Given the description of an element on the screen output the (x, y) to click on. 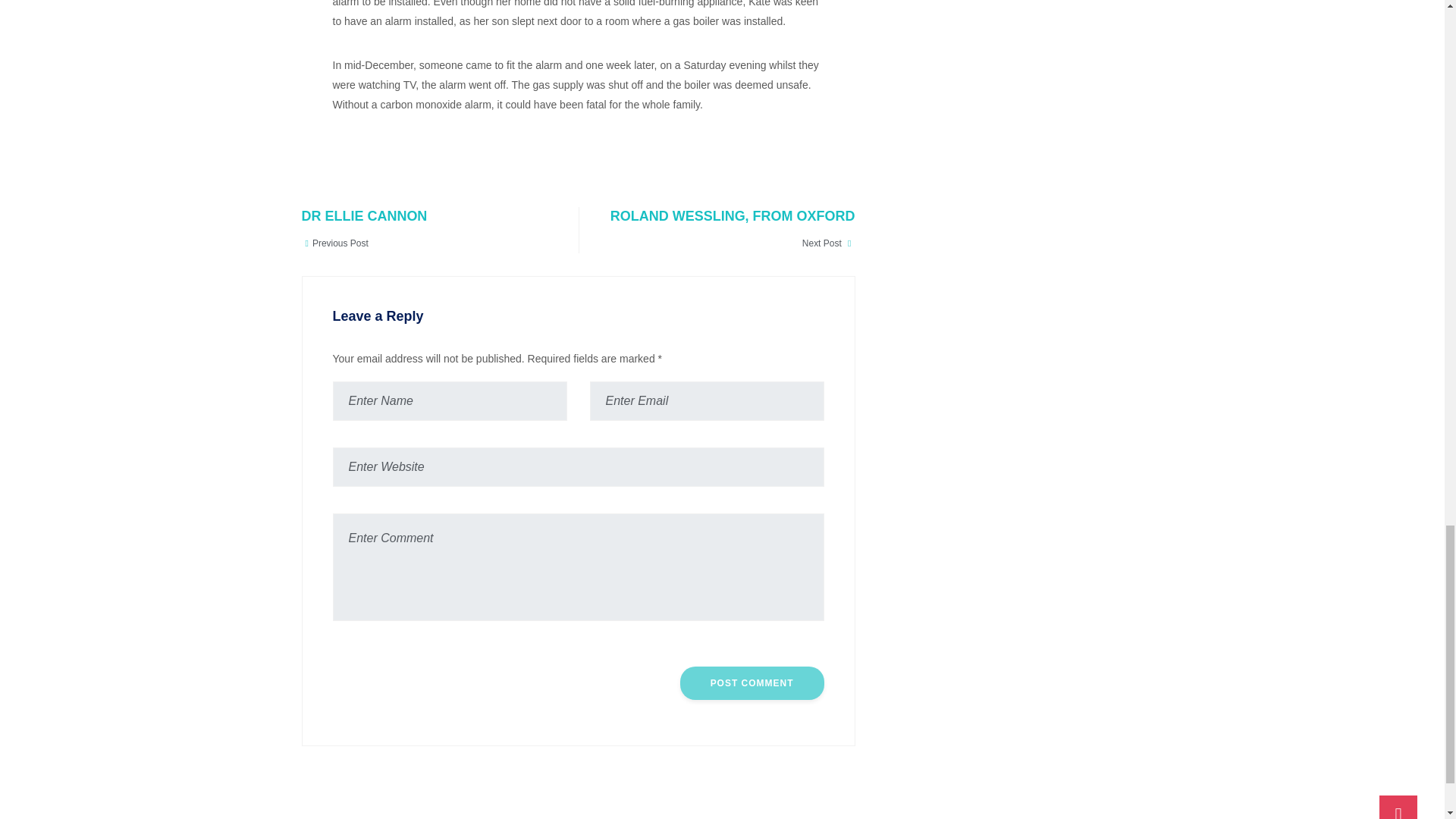
Post Comment (424, 230)
Post Comment (751, 683)
